Given the description of an element on the screen output the (x, y) to click on. 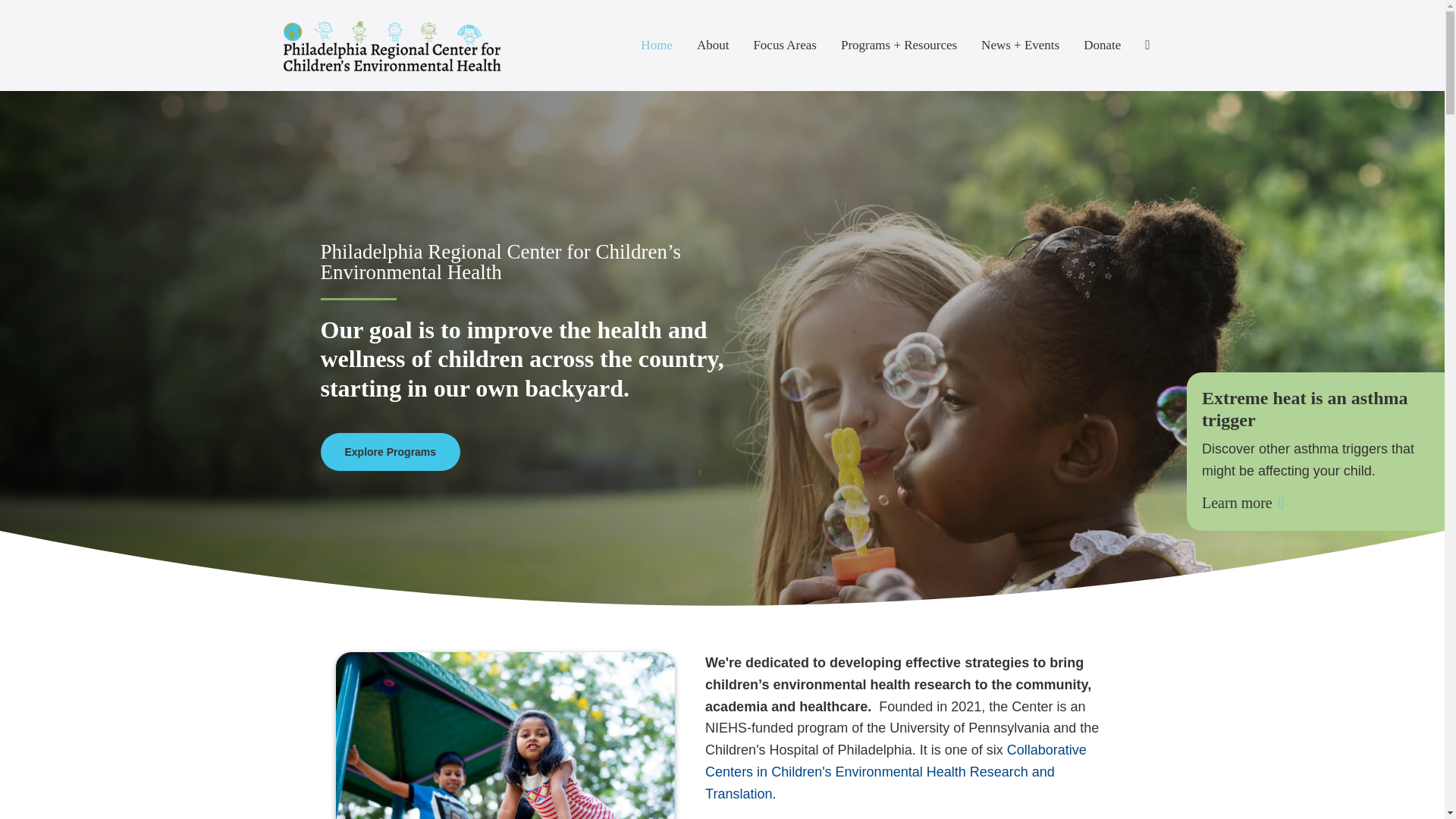
Focus Areas (784, 45)
Search Toggle (1146, 45)
Home (656, 45)
About (712, 45)
Donate (1101, 45)
